Given the description of an element on the screen output the (x, y) to click on. 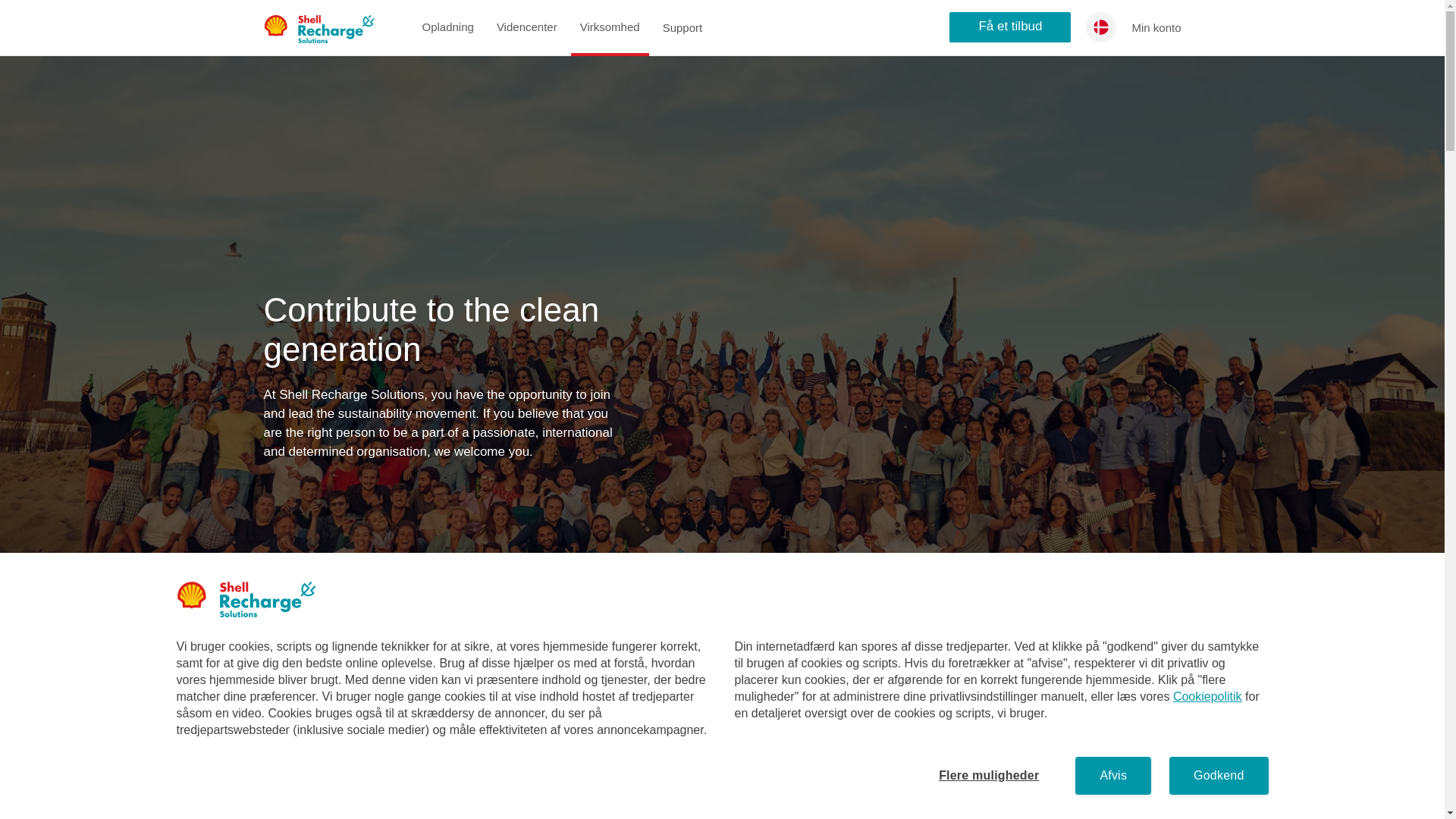
Videncenter (526, 26)
Virksomhed (609, 26)
Support (682, 26)
Afvis (1113, 775)
Cookiepolitik (1207, 696)
Shell Recharge-logo (259, 598)
Opladning (447, 26)
Godkend (1218, 775)
Flere muligheder (988, 775)
